Given the description of an element on the screen output the (x, y) to click on. 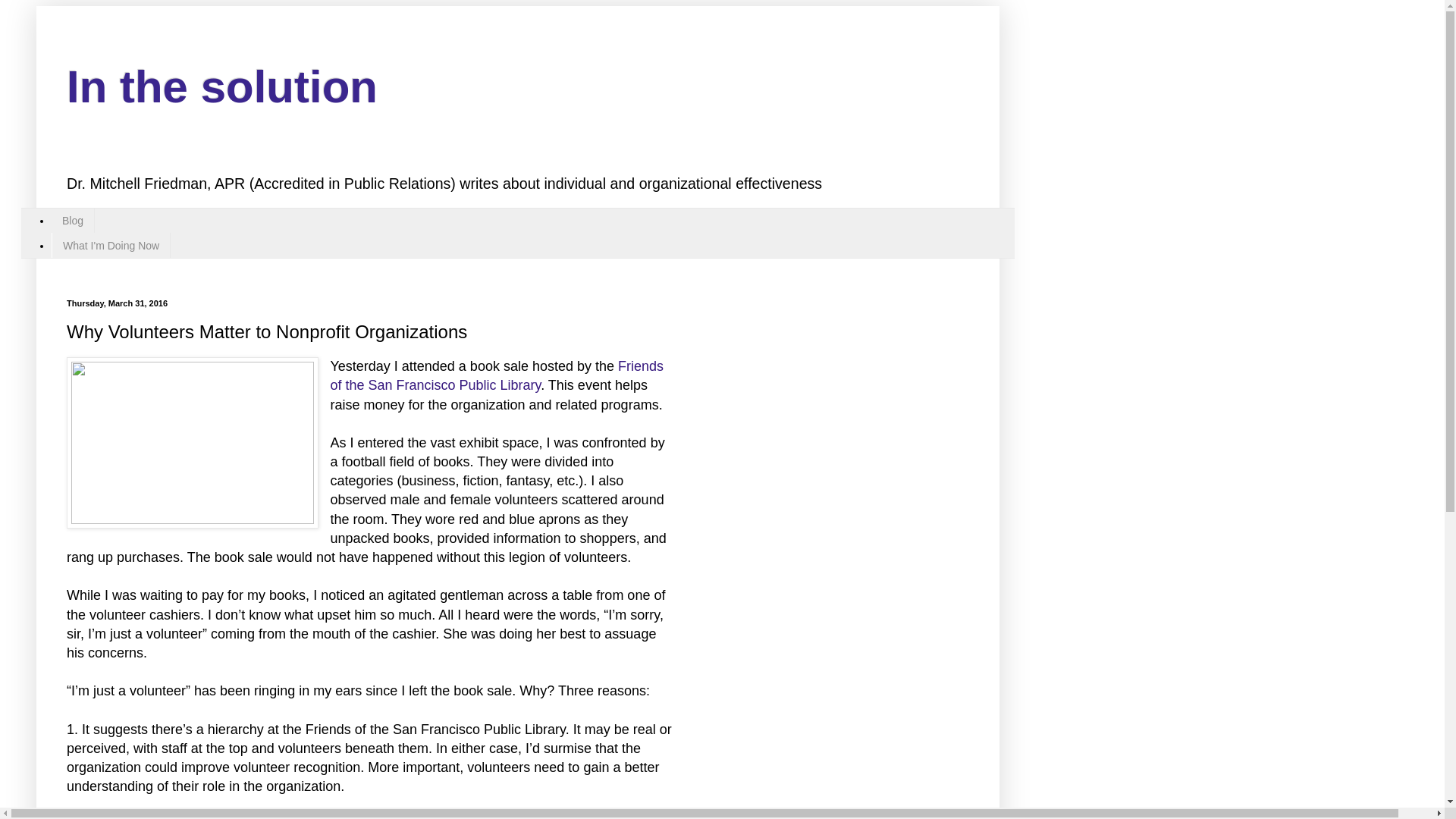
In the solution (221, 86)
Friends of the San Francisco Public Library (496, 375)
What I'm Doing Now (110, 244)
Blog (72, 220)
